Given the description of an element on the screen output the (x, y) to click on. 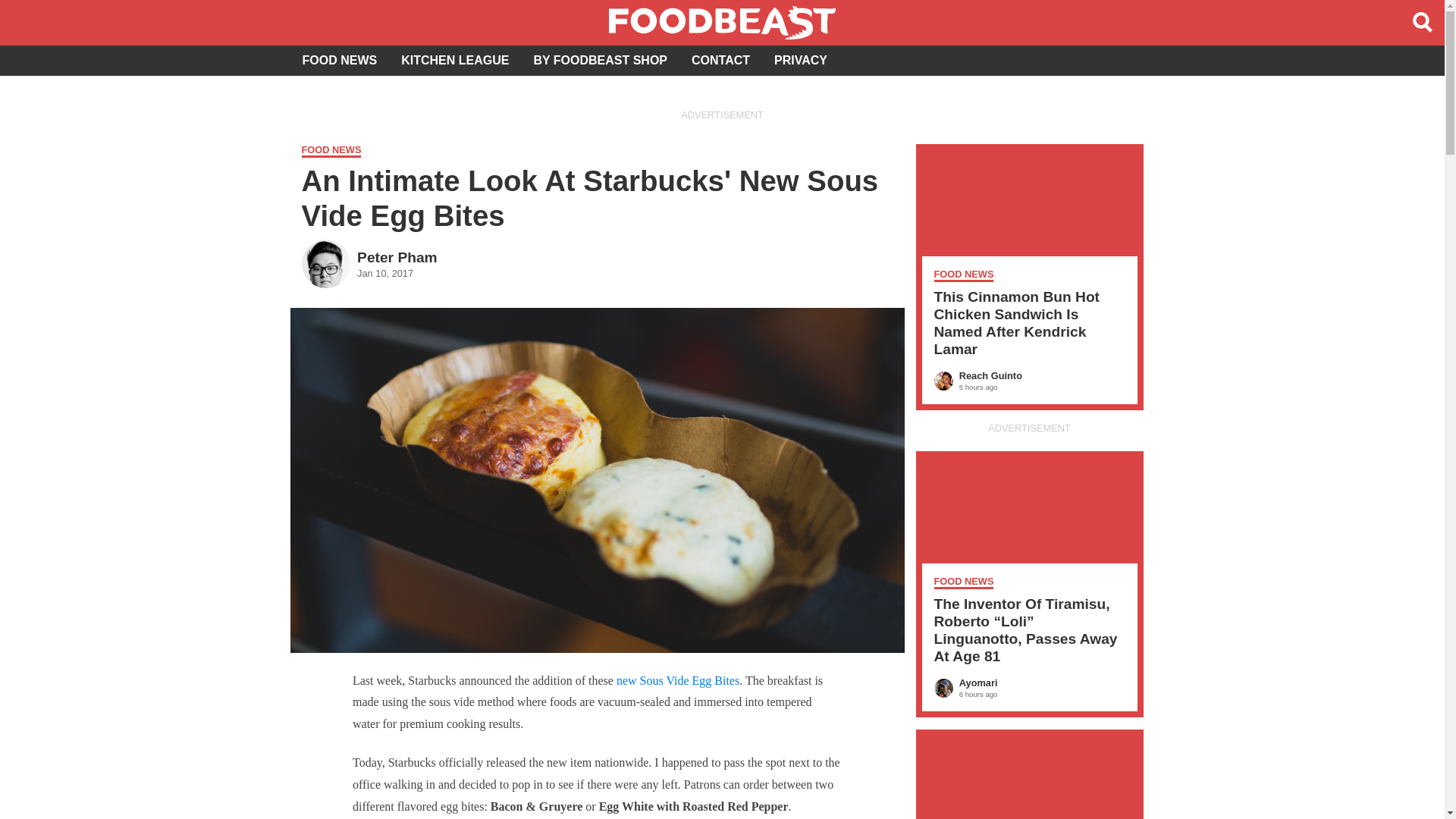
PRIVACY (800, 60)
KITCHEN LEAGUE (454, 60)
BY FOODBEAST SHOP (369, 262)
FOOD NEWS (600, 60)
new Sous Vide Egg Bites (338, 60)
GET FOOD NEWS (677, 680)
CONTACT (722, 151)
